Given the description of an element on the screen output the (x, y) to click on. 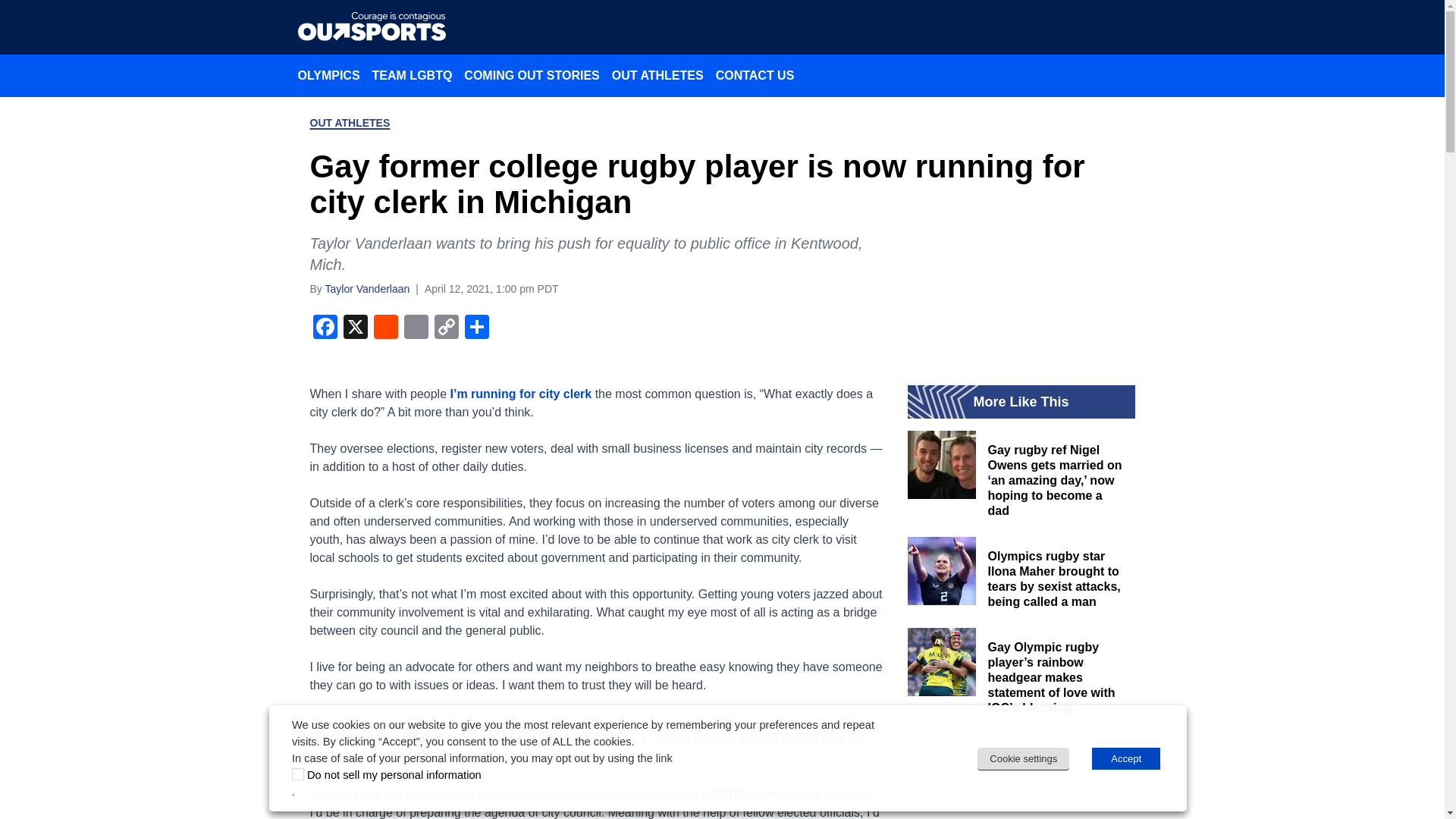
Reddit (384, 327)
Email (415, 327)
Facebook (323, 327)
Reddit (384, 327)
X (354, 327)
OUT ATHLETES (349, 122)
on (298, 774)
OUT ATHLETES (657, 75)
Share (476, 327)
y current profession as a social worker (633, 720)
